Given the description of an element on the screen output the (x, y) to click on. 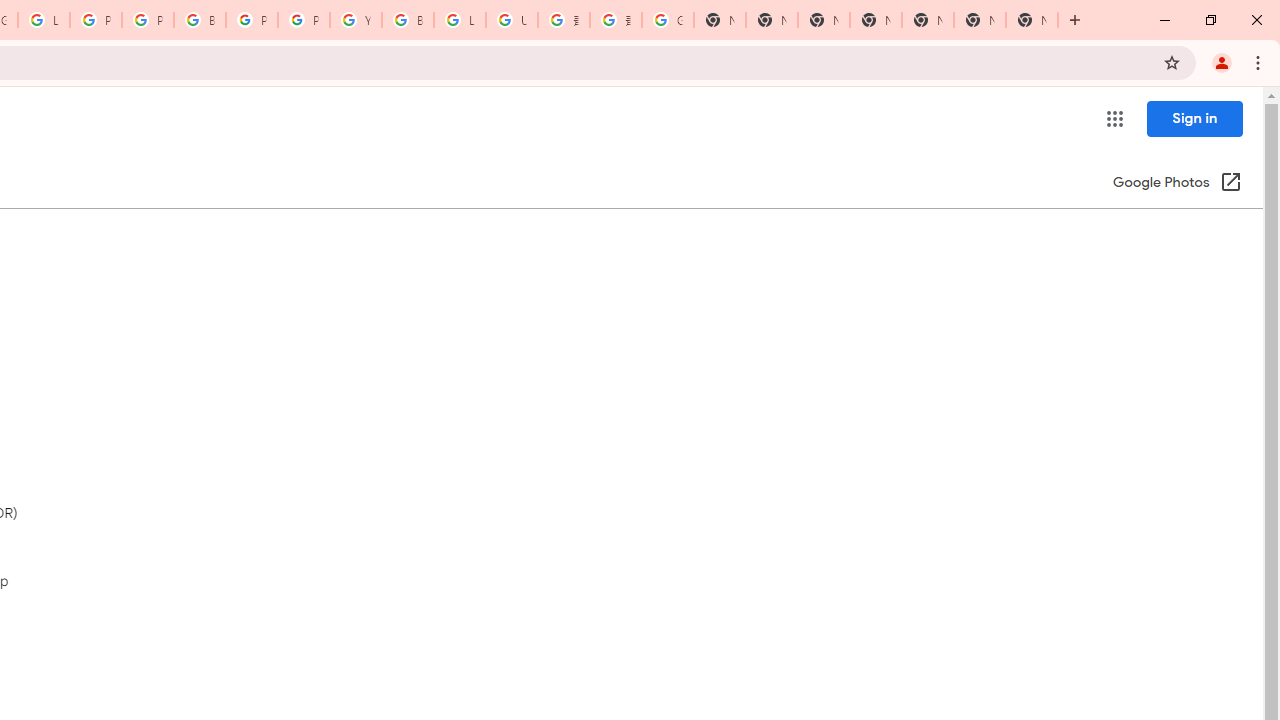
Google Photos (Open in a new window) (1177, 183)
New Tab (875, 20)
Google Images (667, 20)
